Given the description of an element on the screen output the (x, y) to click on. 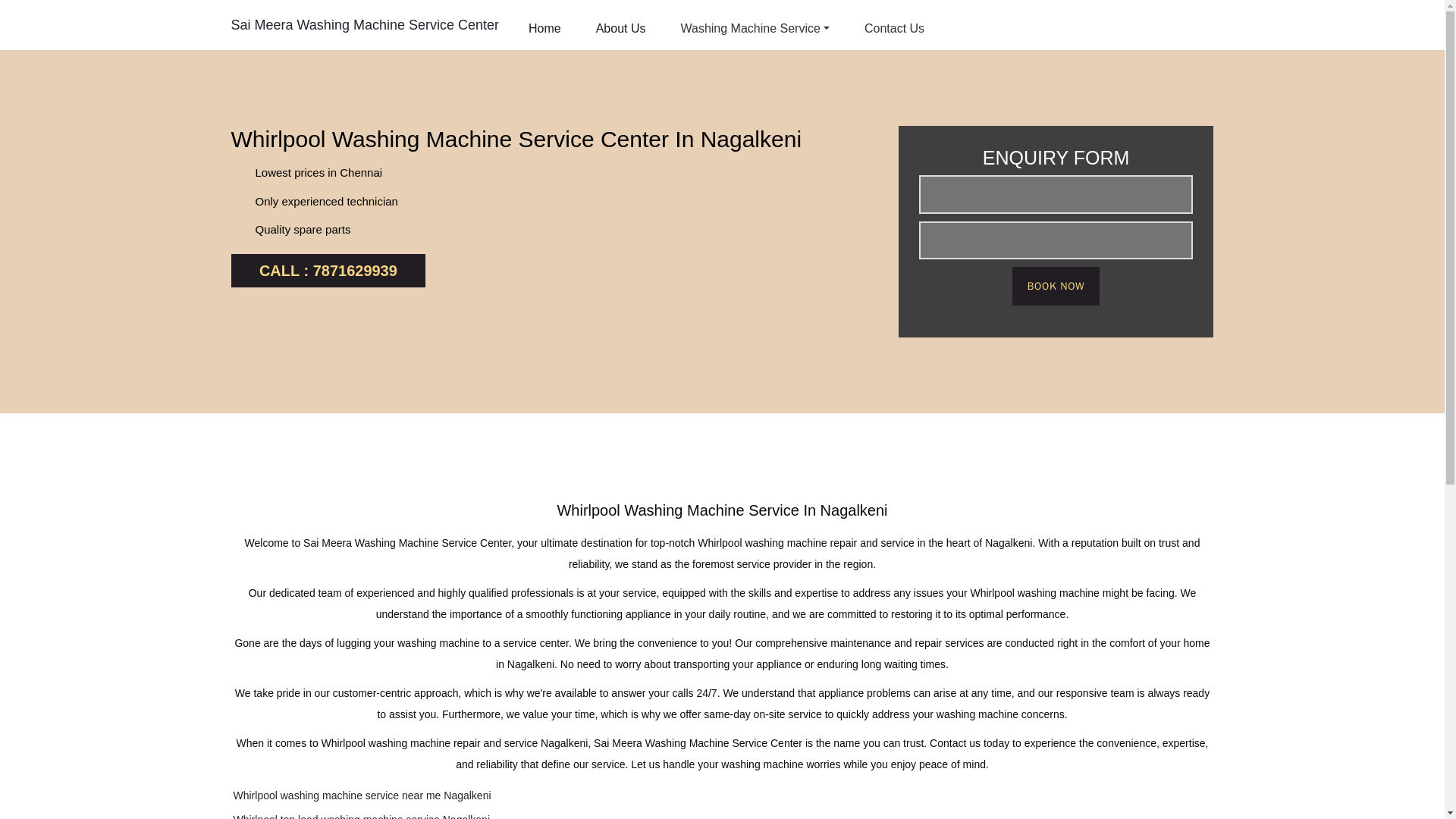
About Us (620, 28)
Book Now (1055, 285)
Contact Us (894, 28)
Sai Meera Washing Machine Service Center (364, 24)
Home (544, 28)
Washing Machine Service (755, 28)
CALL : 7871629939 (328, 270)
Sai Meera Washing Machine Service Center (364, 24)
Book Now (1055, 285)
